Given the description of an element on the screen output the (x, y) to click on. 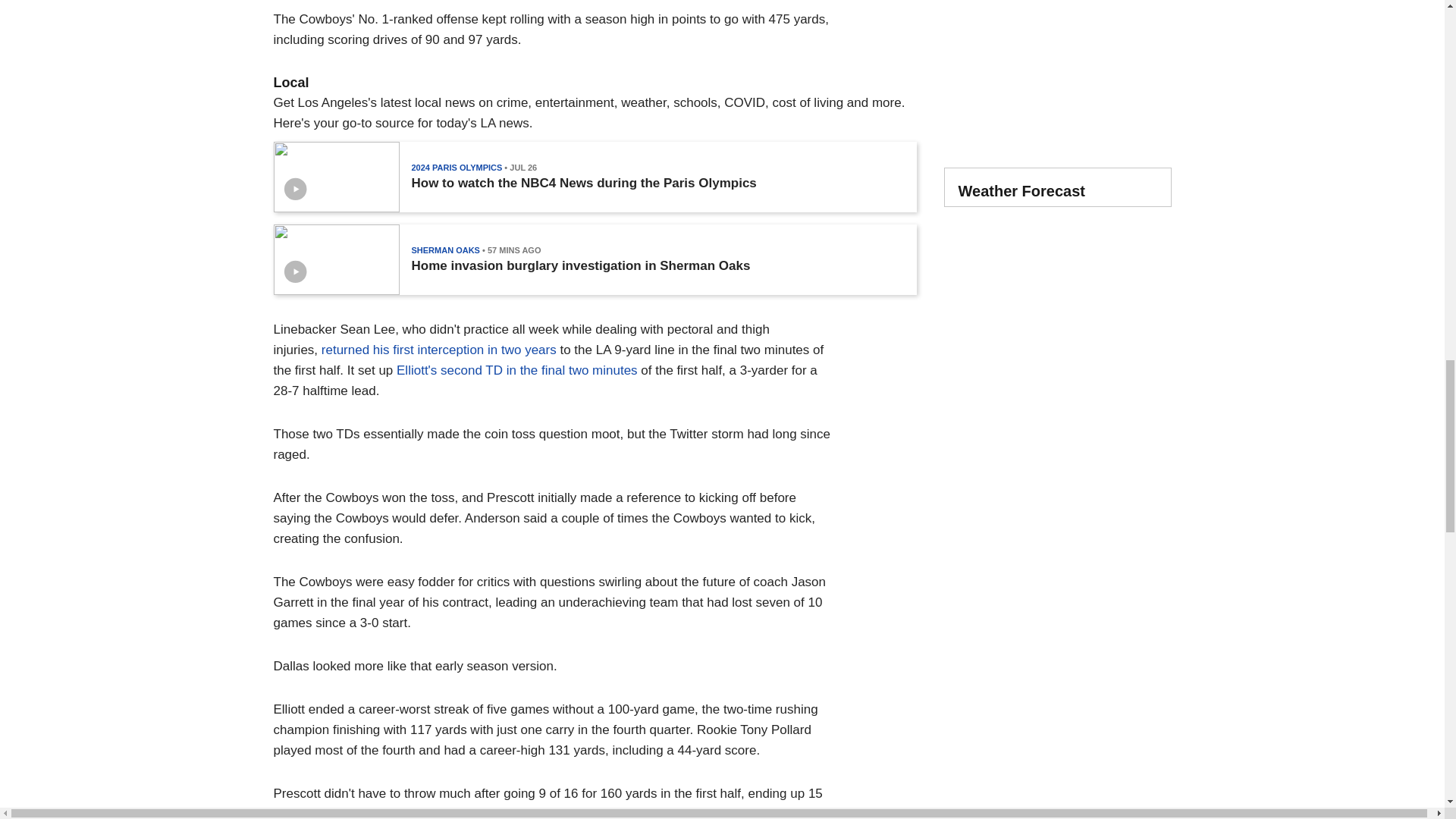
2024 PARIS OLYMPICS (456, 166)
returned his first interception in two years (438, 350)
Jason Witten made a one-handed catch (501, 812)
How to watch the NBC4 News during the Paris Olympics (582, 183)
Elliott's second TD in the final two minutes (516, 370)
Home invasion burglary investigation in Sherman Oaks (579, 265)
SHERMAN OAKS (444, 249)
